Given the description of an element on the screen output the (x, y) to click on. 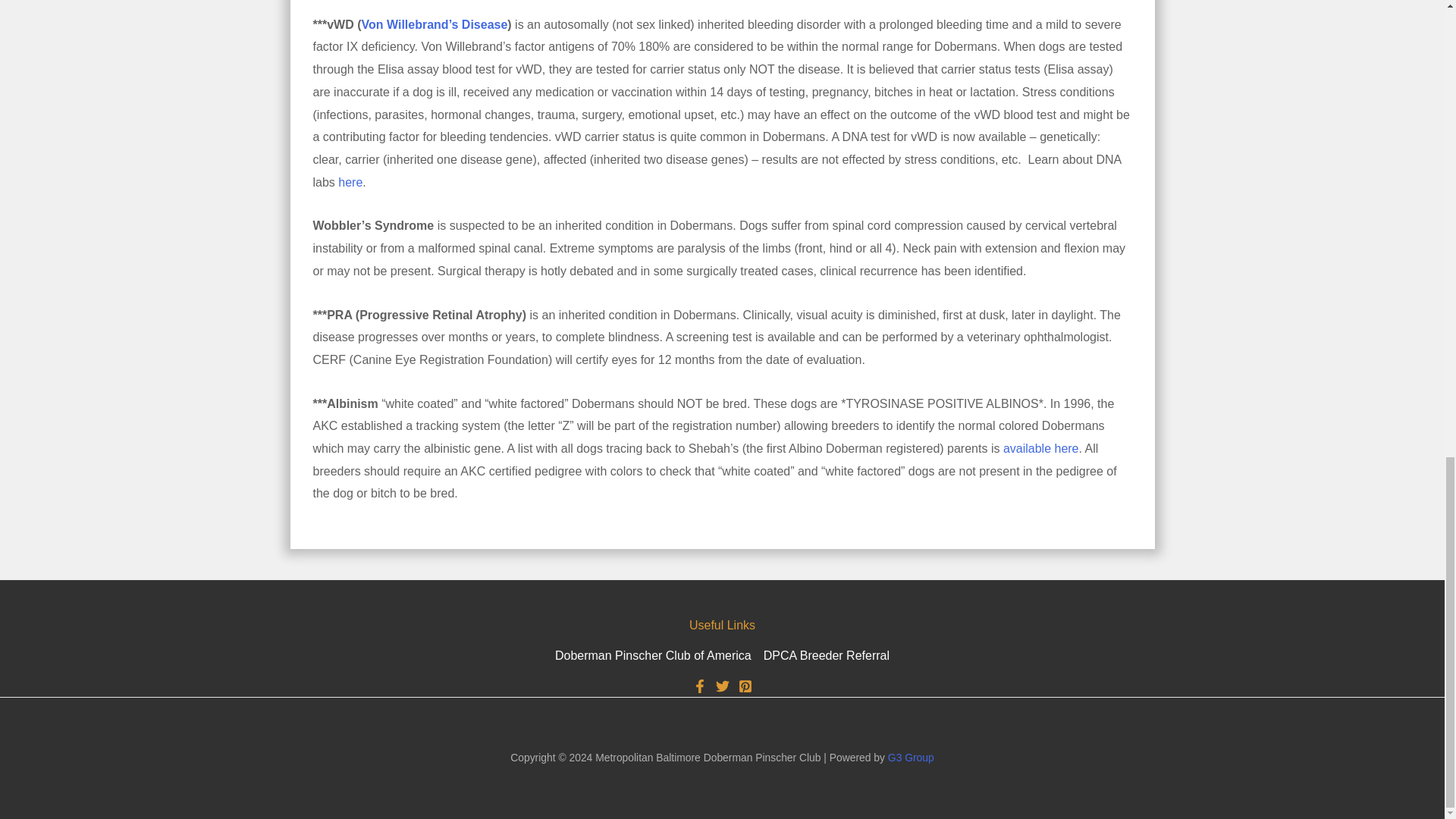
Doberman Pinscher Club of America (655, 655)
here (349, 182)
DPCA Breeder Referral (823, 655)
available here (1040, 448)
G3 Group (911, 757)
